Given the description of an element on the screen output the (x, y) to click on. 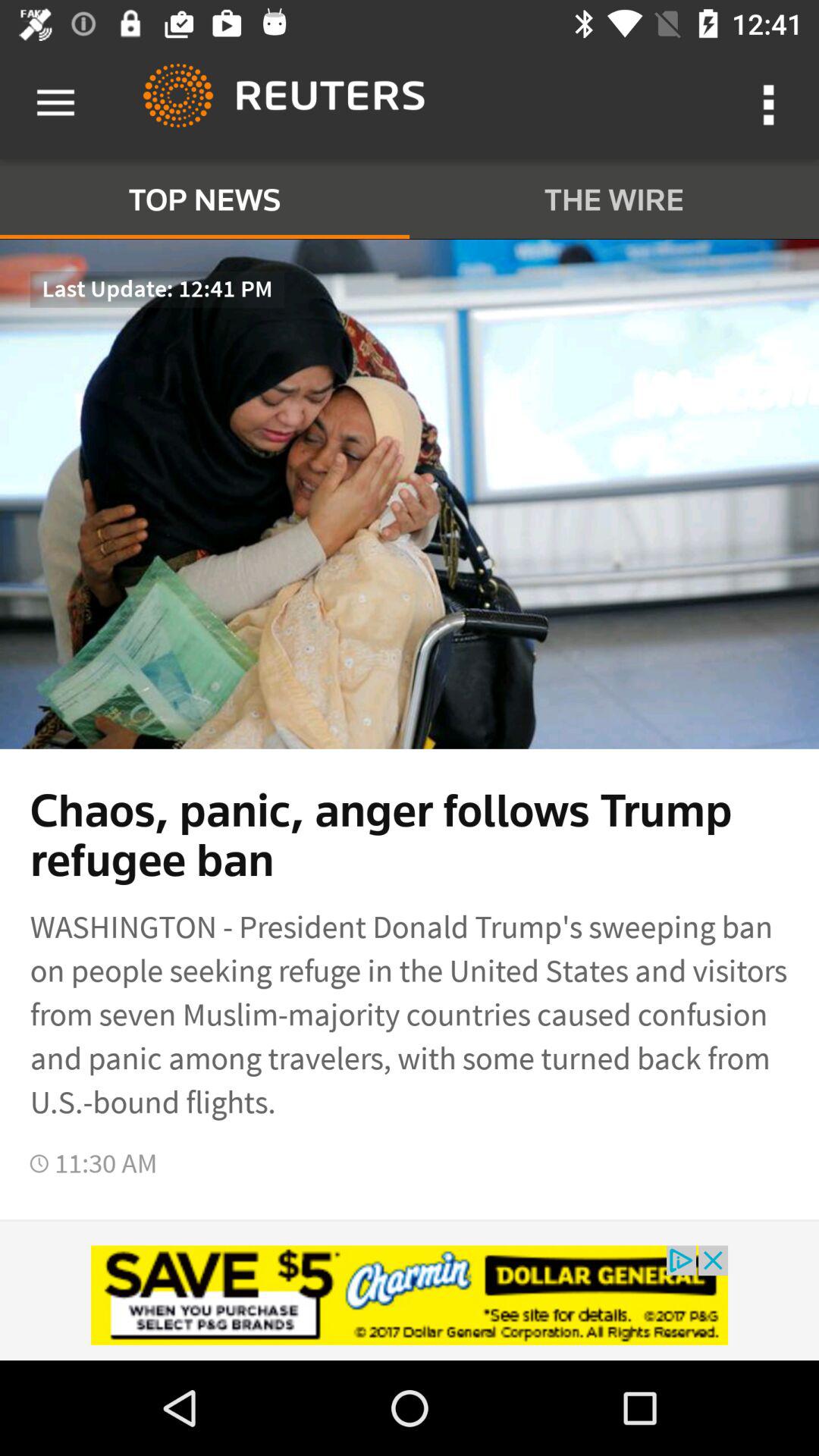
advertisement (409, 1295)
